Given the description of an element on the screen output the (x, y) to click on. 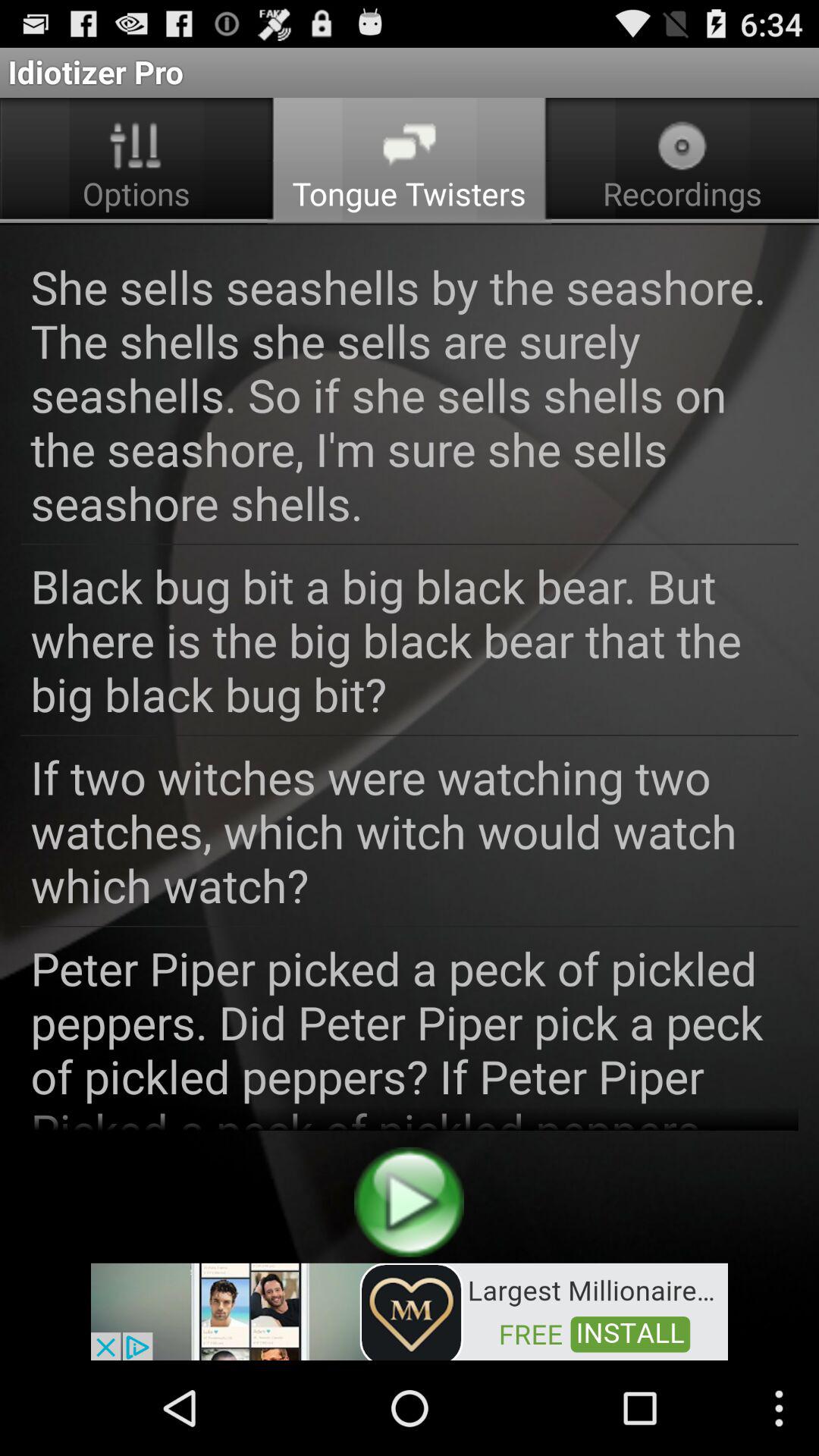
new advertisement open (409, 1310)
